Given the description of an element on the screen output the (x, y) to click on. 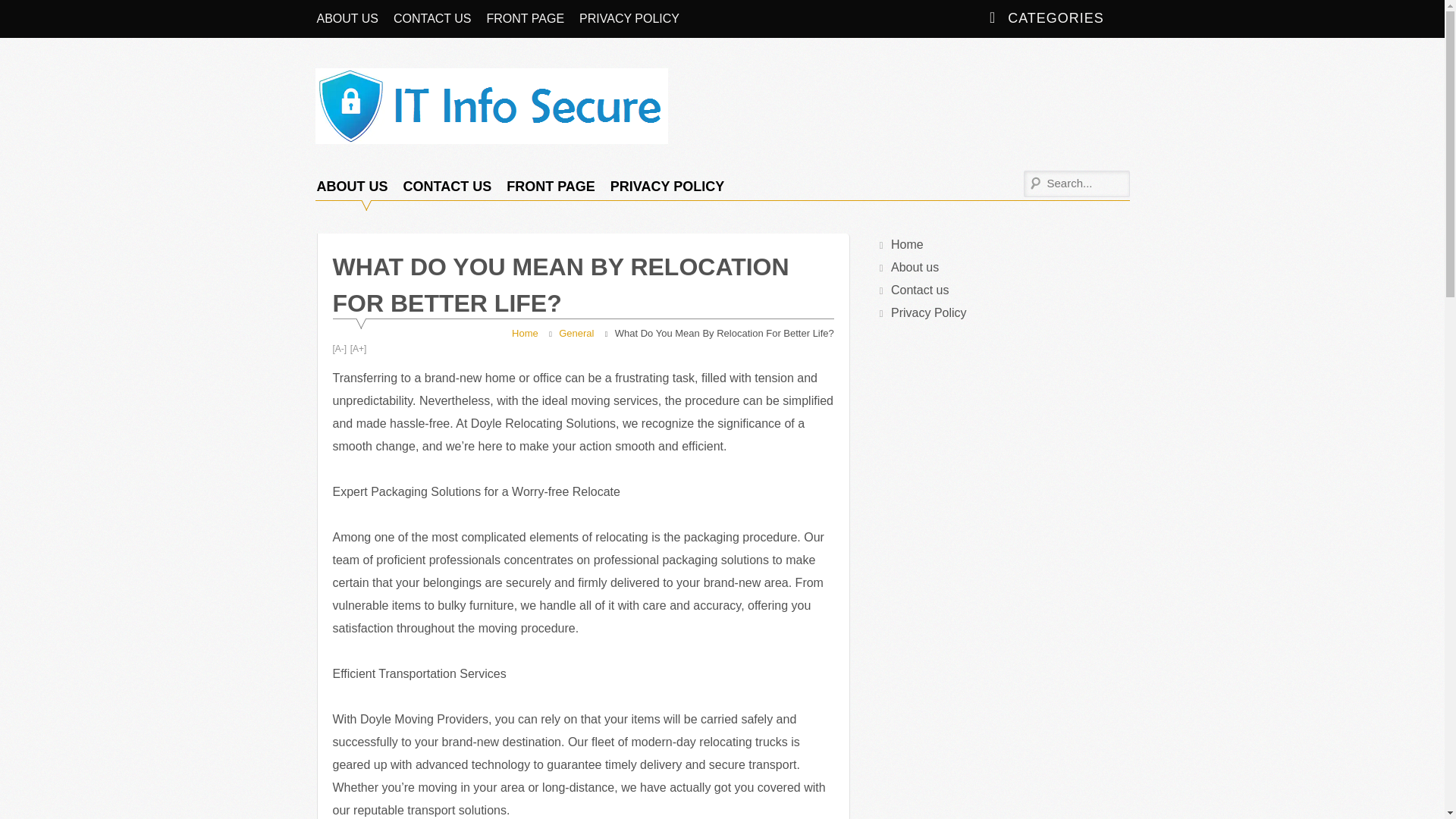
ABOUT US (347, 18)
Increase Font Size (358, 348)
Information Technology Info Secure Services (372, 207)
FRONT PAGE (550, 187)
Search (23, 12)
FRONT PAGE (525, 18)
PRIVACY POLICY (667, 187)
ABOUT US (352, 187)
General (576, 333)
Home (525, 333)
PRIVACY POLICY (629, 18)
CONTACT US (447, 187)
CONTACT US (432, 18)
